Given the description of an element on the screen output the (x, y) to click on. 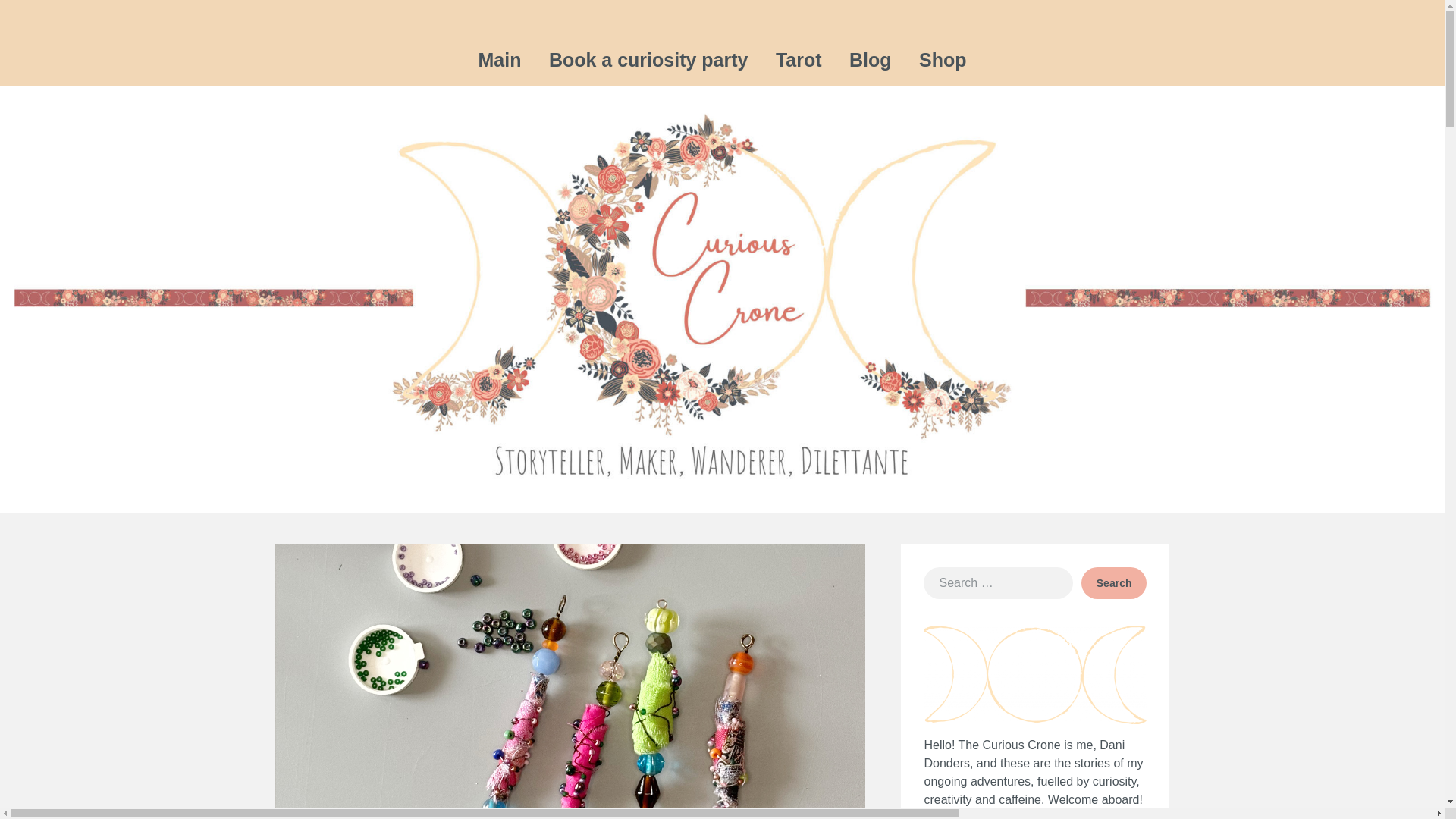
Main (498, 60)
Search (1114, 582)
Search (1114, 582)
Search (1114, 582)
Book a curiosity party (648, 60)
Blog (870, 60)
Shop (942, 60)
Tarot (798, 60)
Curious Crone (1089, 38)
